Given the description of an element on the screen output the (x, y) to click on. 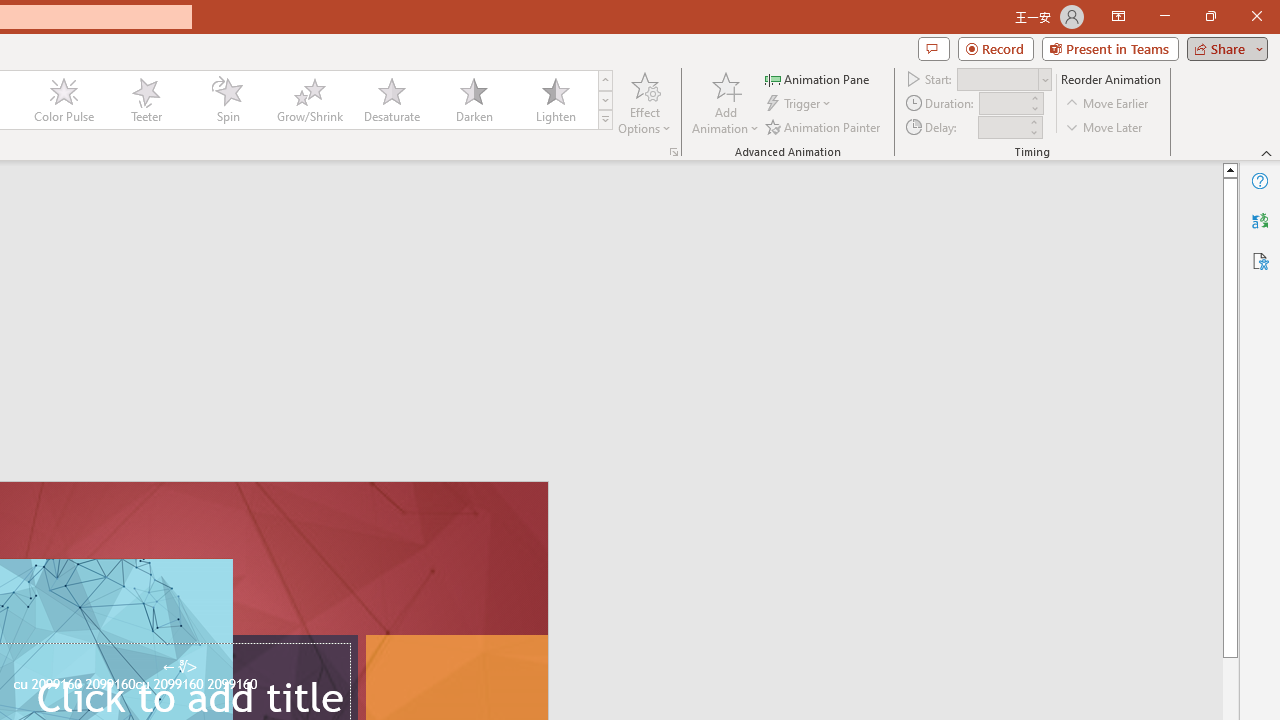
Color Pulse (63, 100)
Lighten (555, 100)
Add Animation (725, 102)
